Given the description of an element on the screen output the (x, y) to click on. 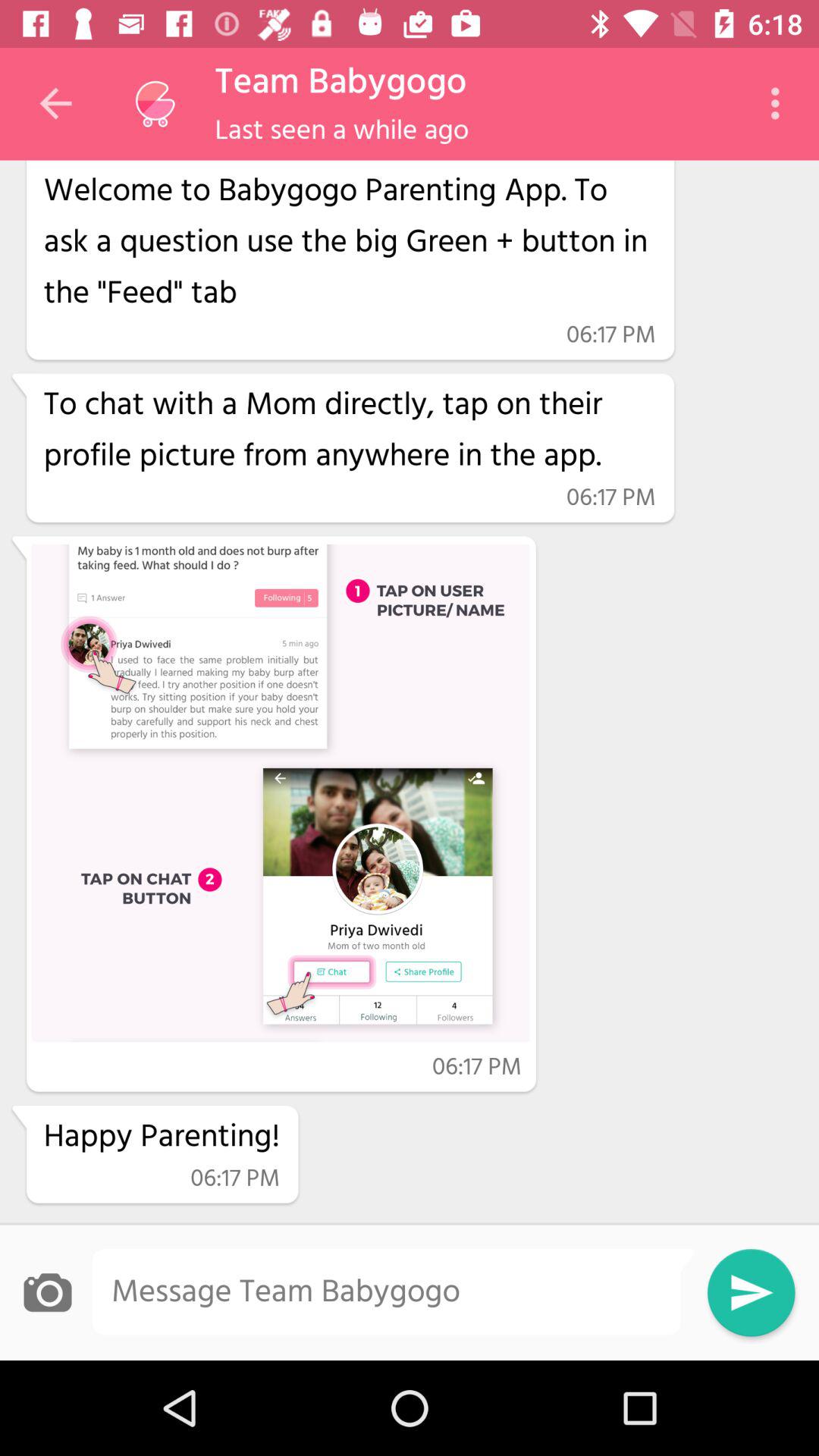
type the message bar (393, 1292)
